Given the description of an element on the screen output the (x, y) to click on. 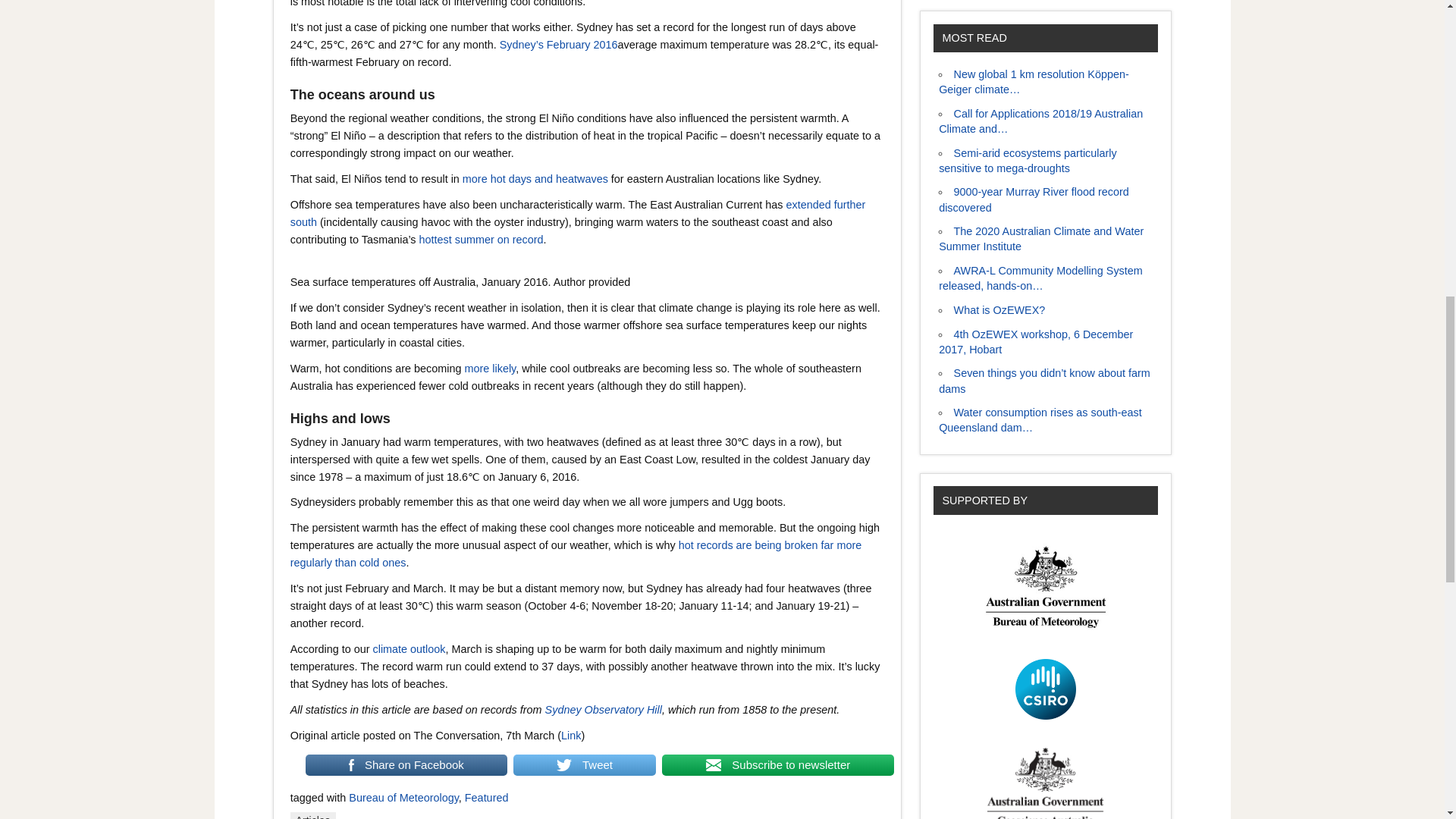
Subscribe to newsletter (772, 764)
extended further south (577, 213)
more hot days and heatwaves (535, 178)
Link (570, 735)
more likely (490, 368)
Featured (486, 797)
hottest summer on record (481, 239)
Sydney Observatory Hill (603, 709)
climate outlook (408, 648)
Articles (312, 815)
Tweet (579, 764)
Bureau of Meteorology (403, 797)
Share on Facebook (401, 764)
